Given the description of an element on the screen output the (x, y) to click on. 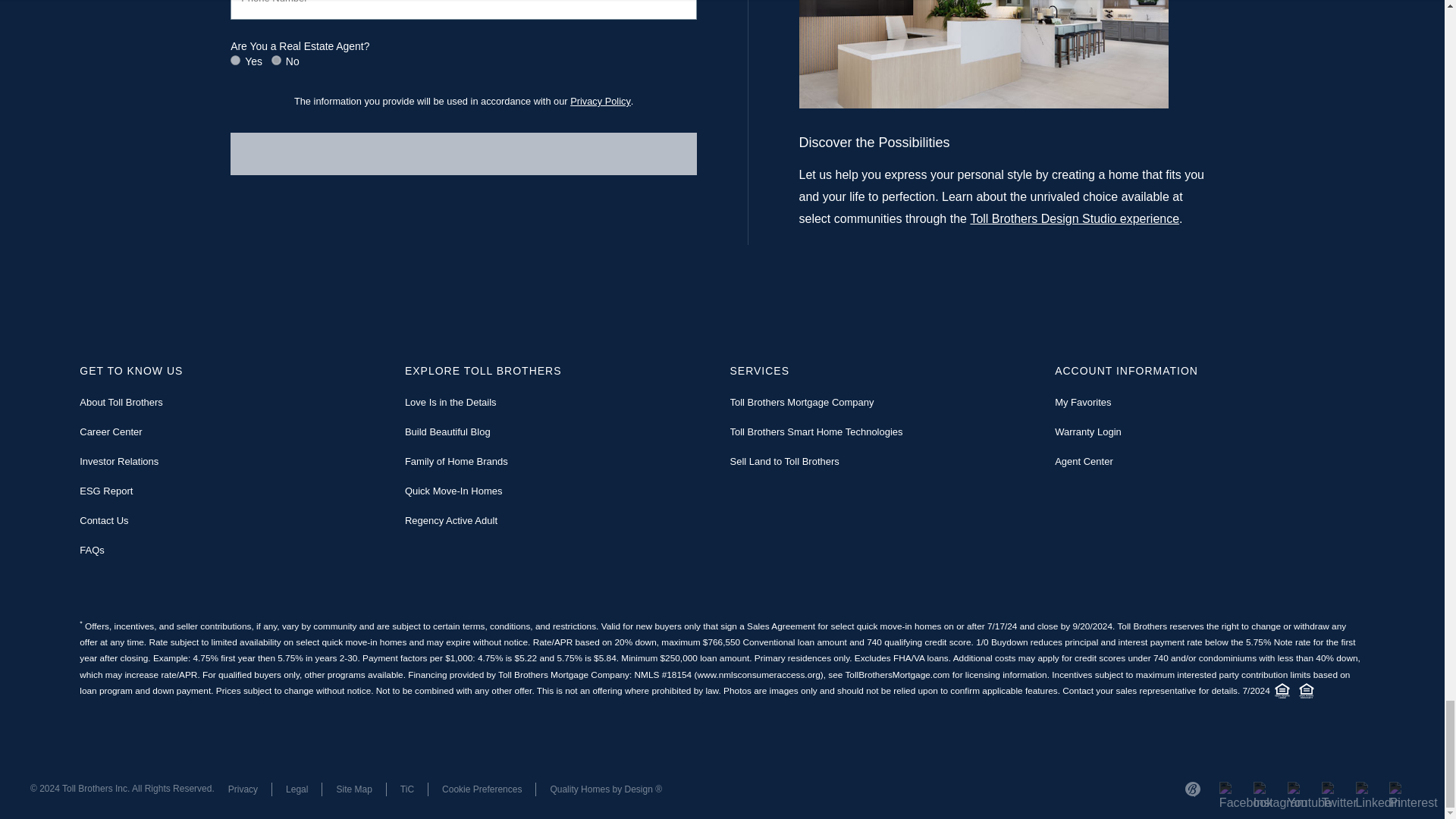
Please enter a valid phone number (463, 9)
yes (235, 60)
Investor Relations (119, 460)
Toll Brothers Design Studio (1074, 218)
Toll Career Center (110, 431)
no (275, 60)
